Given the description of an element on the screen output the (x, y) to click on. 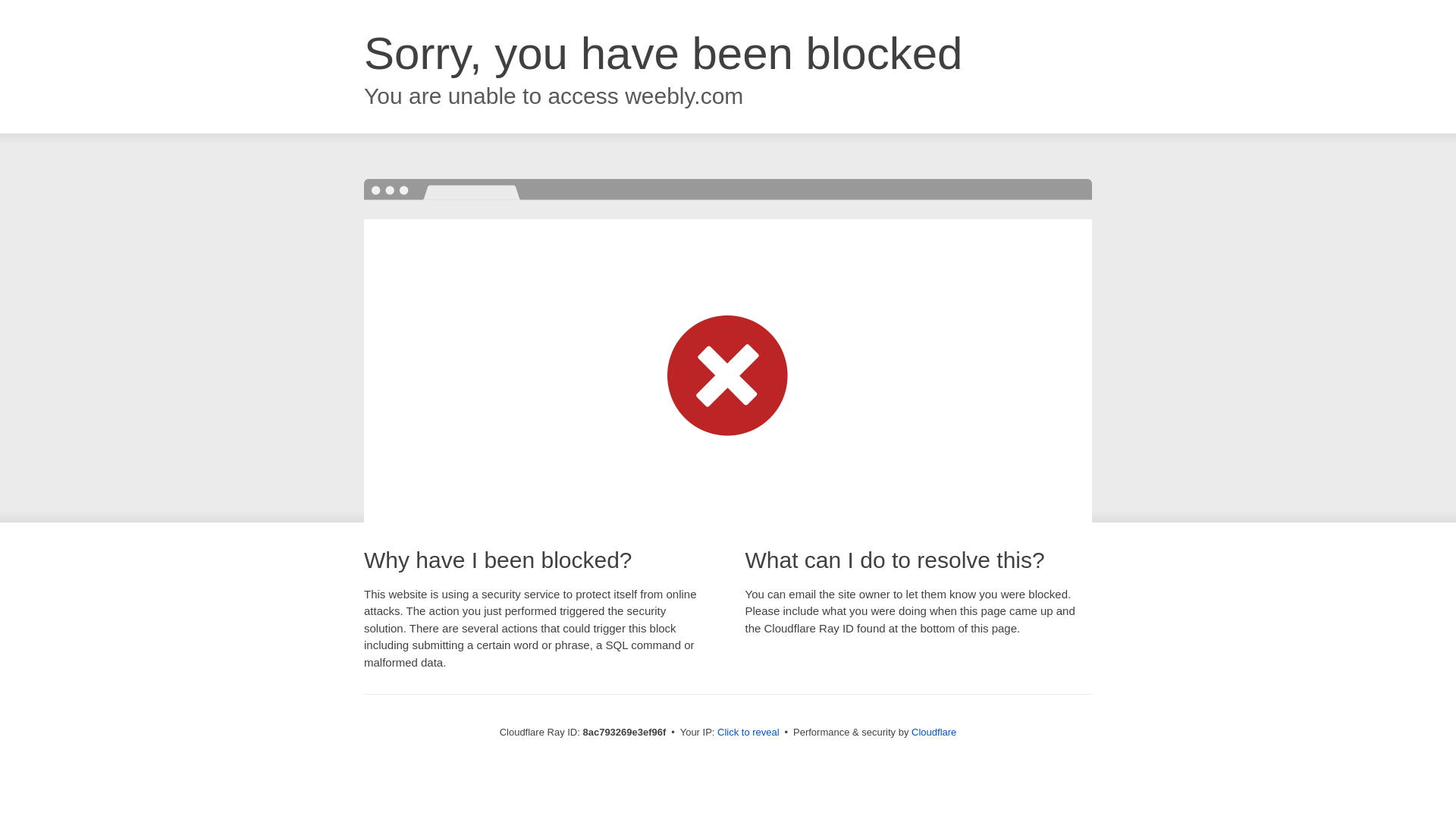
Cloudflare (933, 731)
Click to reveal (747, 732)
